Given the description of an element on the screen output the (x, y) to click on. 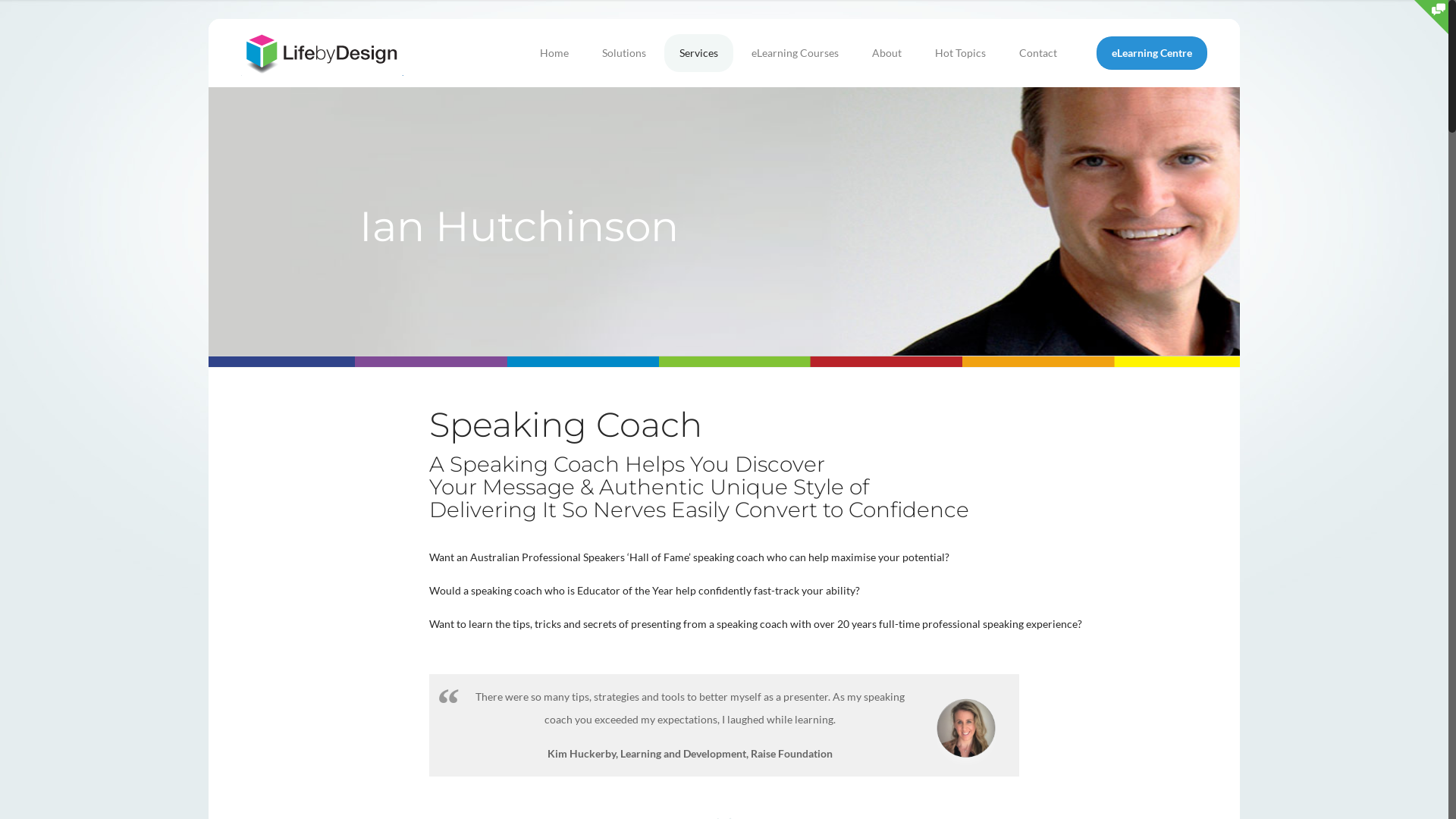
About Element type: text (886, 53)
Home Element type: text (553, 53)
eLearning Courses Element type: text (794, 53)
Services Element type: text (698, 53)
Life by Design Element type: hover (322, 52)
Solutions Element type: text (623, 53)
Contact Element type: text (1038, 53)
Hot Topics Element type: text (960, 53)
eLearning Centre Element type: text (1151, 52)
